Given the description of an element on the screen output the (x, y) to click on. 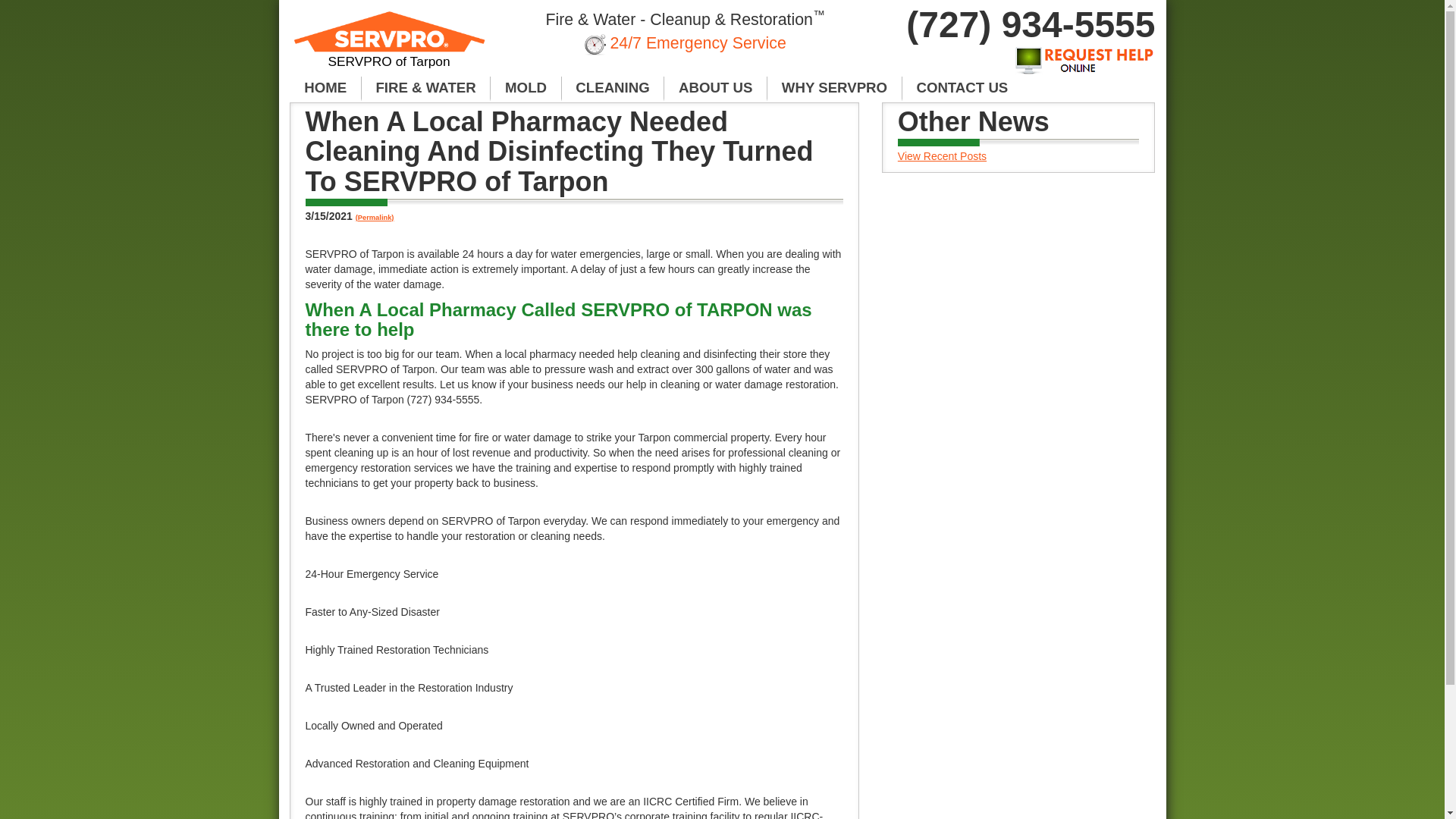
MOLD (525, 88)
SERVPRO of Tarpon (389, 46)
ABOUT US (715, 88)
CLEANING (613, 88)
HOME (325, 88)
